Given the description of an element on the screen output the (x, y) to click on. 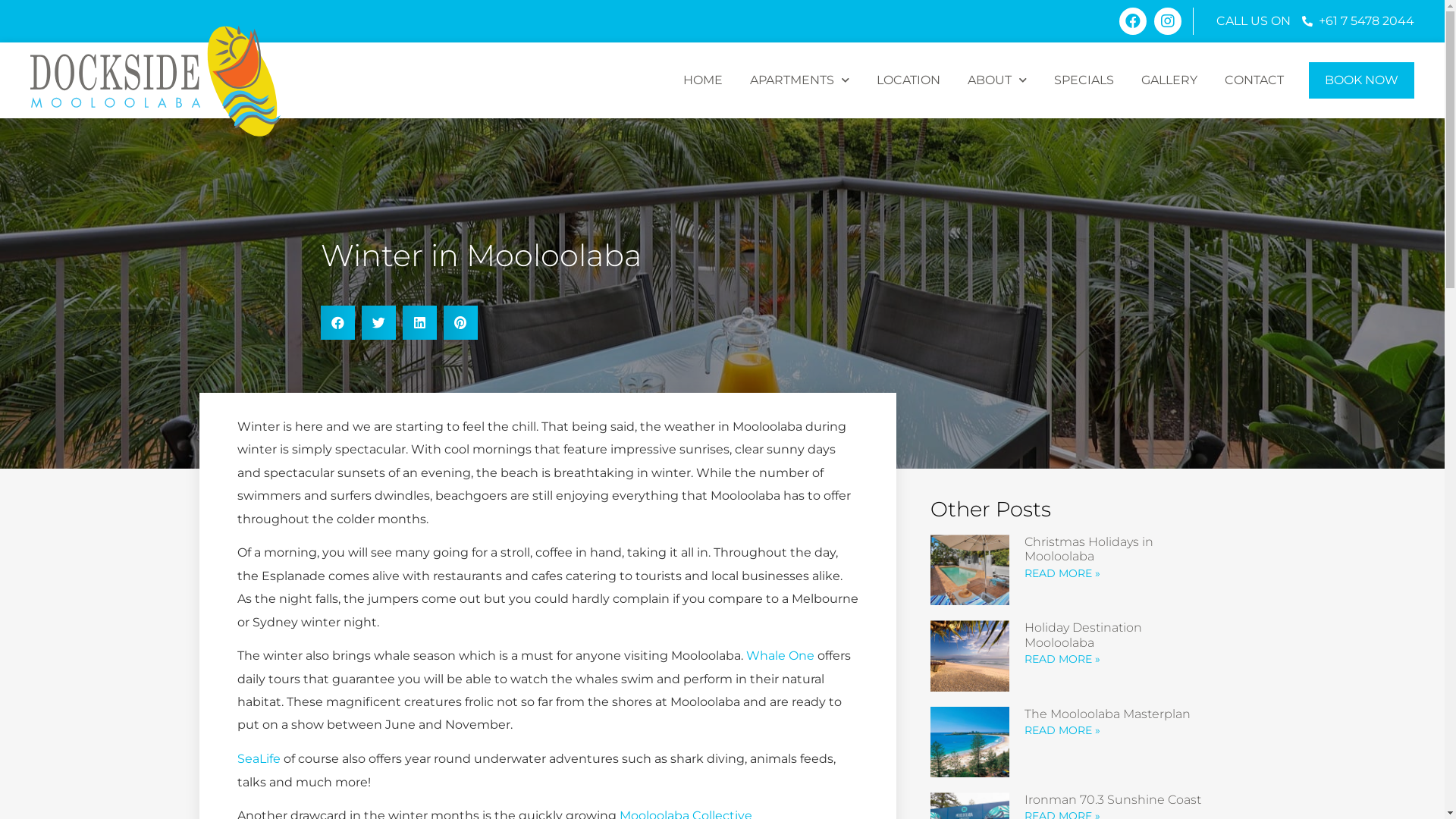
Christmas Holidays in Mooloolaba Element type: text (1088, 548)
ABOUT Element type: text (996, 80)
Whale One Element type: text (780, 655)
SeaLife Element type: text (257, 758)
Ironman 70.3 Sunshine Coast Element type: text (1112, 799)
Holiday Destination Mooloolaba Element type: text (1083, 634)
APARTMENTS Element type: text (799, 80)
SPECIALS Element type: text (1083, 80)
CONTACT Element type: text (1254, 80)
BOOK NOW Element type: text (1361, 79)
LOCATION Element type: text (907, 80)
The Mooloolaba Masterplan Element type: text (1107, 713)
+61 7 5478 2044 Element type: text (1357, 21)
GALLERY Element type: text (1169, 80)
HOME Element type: text (702, 80)
